Given the description of an element on the screen output the (x, y) to click on. 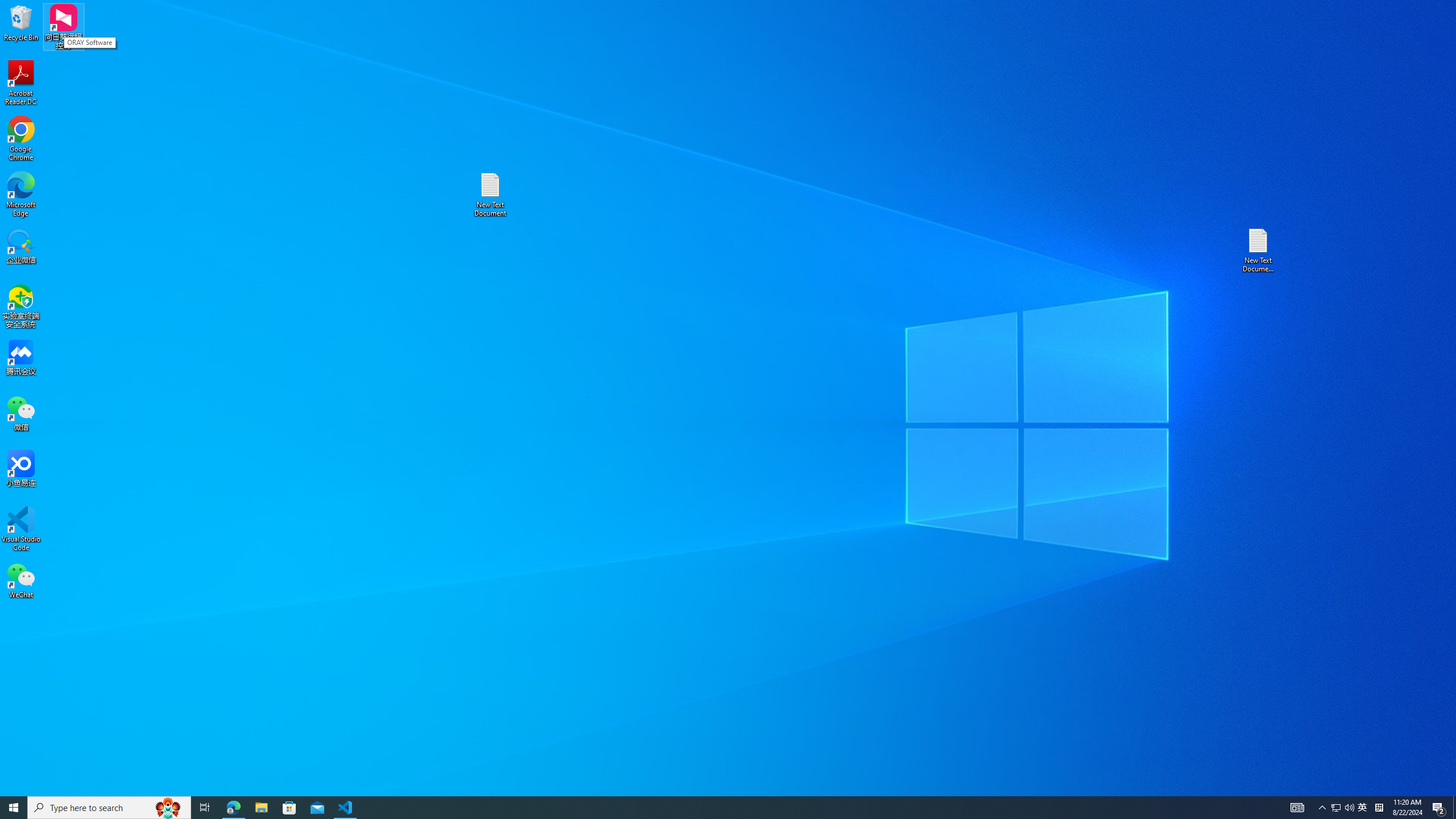
Google Chrome (21, 138)
New Text Document (489, 194)
Microsoft Edge (21, 194)
WeChat (21, 580)
Running applications (707, 807)
